Given the description of an element on the screen output the (x, y) to click on. 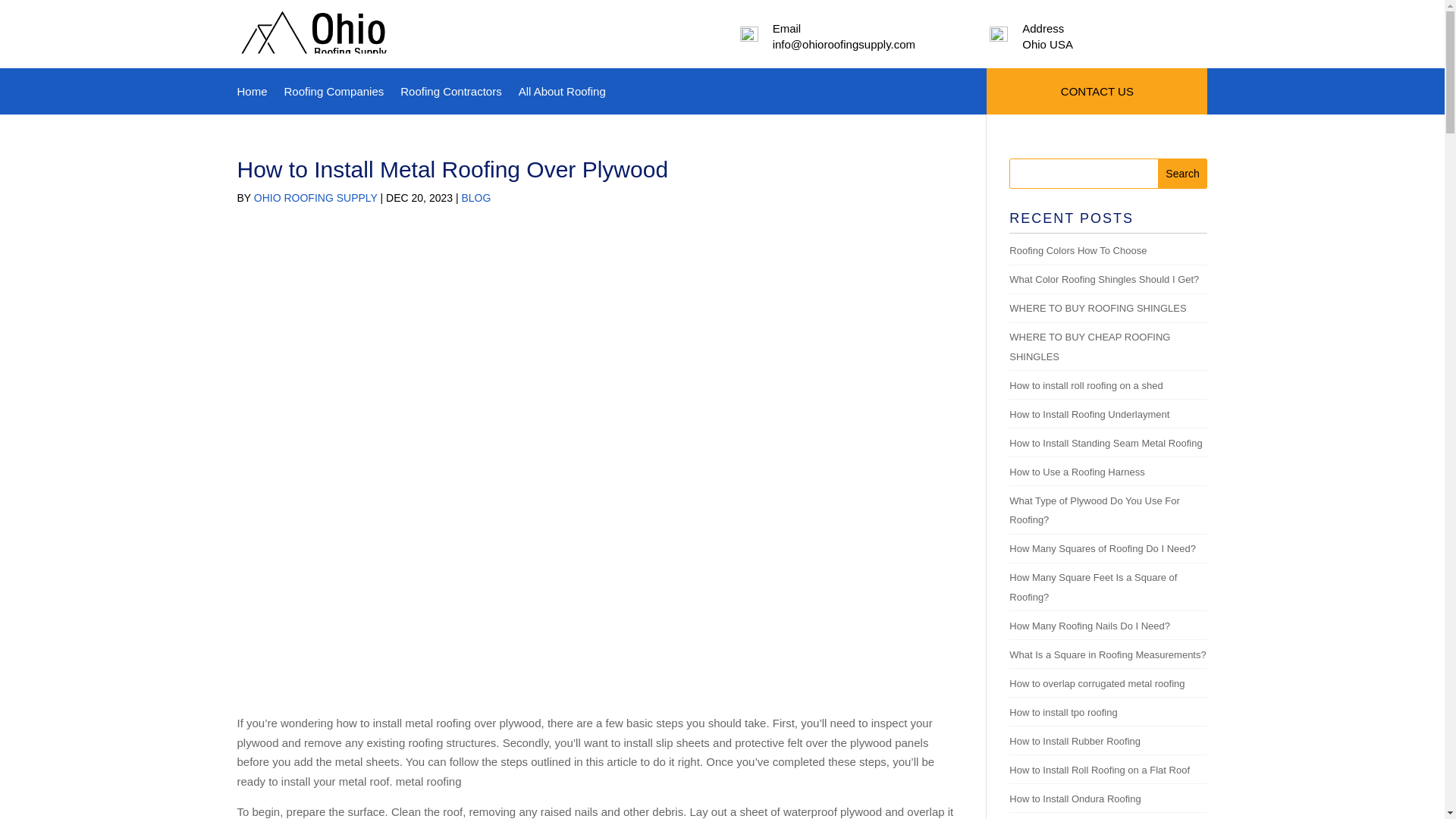
BLOG (475, 197)
What Is a Square in Roofing Measurements? (1107, 654)
Search (1182, 173)
How Many Roofing Nails Do I Need? (1089, 625)
How to Install Roll Roofing on a Flat Roof (1099, 769)
How Many Squares of Roofing Do I Need? (1102, 548)
How to install roll roofing on a shed (1085, 385)
Search (1182, 173)
How to Install Rubber Roofing (1074, 740)
How to Install Roofing Underlayment (1089, 414)
